Given the description of an element on the screen output the (x, y) to click on. 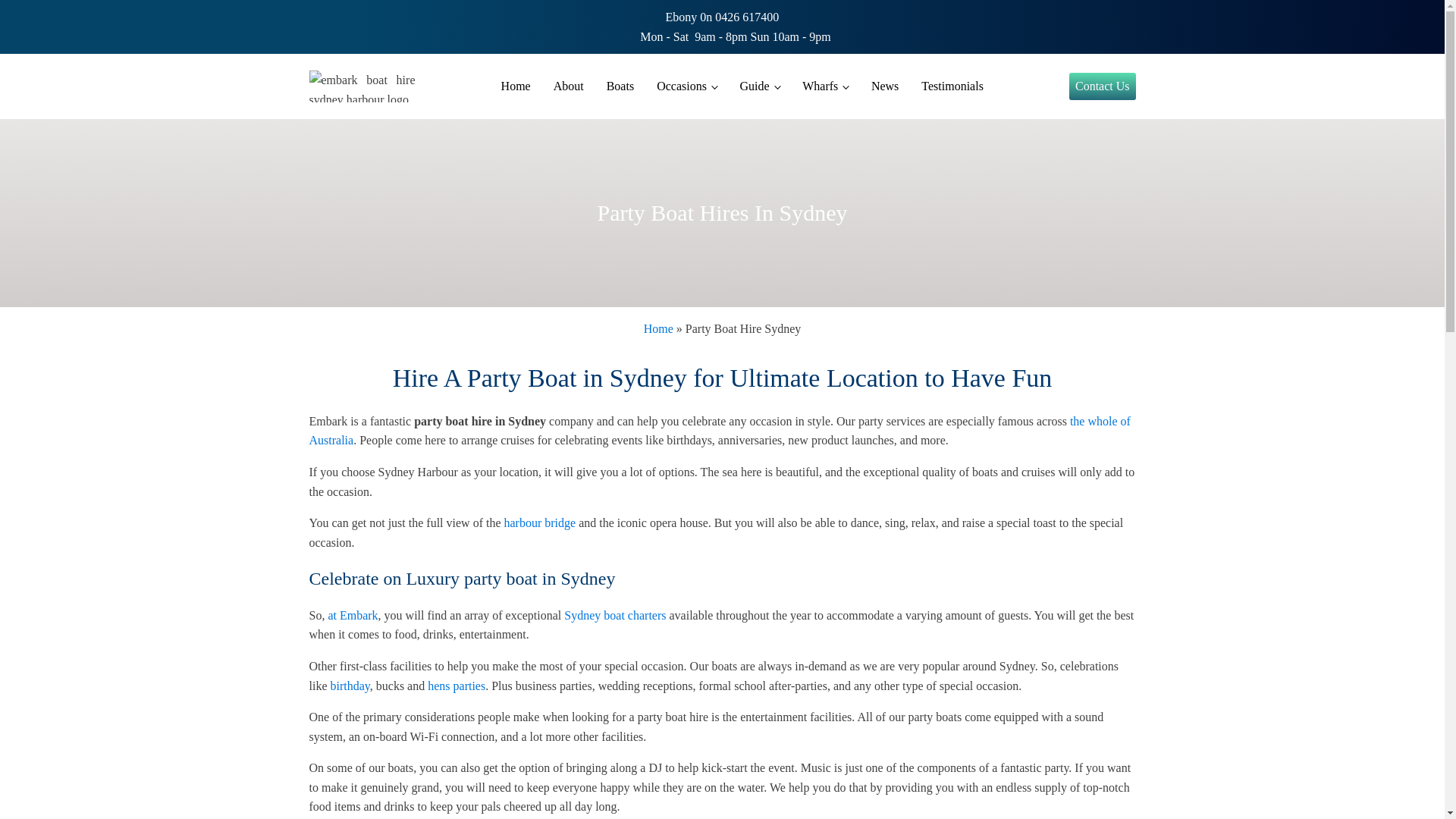
Boats (620, 86)
Home (515, 86)
Guide (759, 86)
Wharfs (825, 86)
About (568, 86)
Occasions (686, 86)
